Given the description of an element on the screen output the (x, y) to click on. 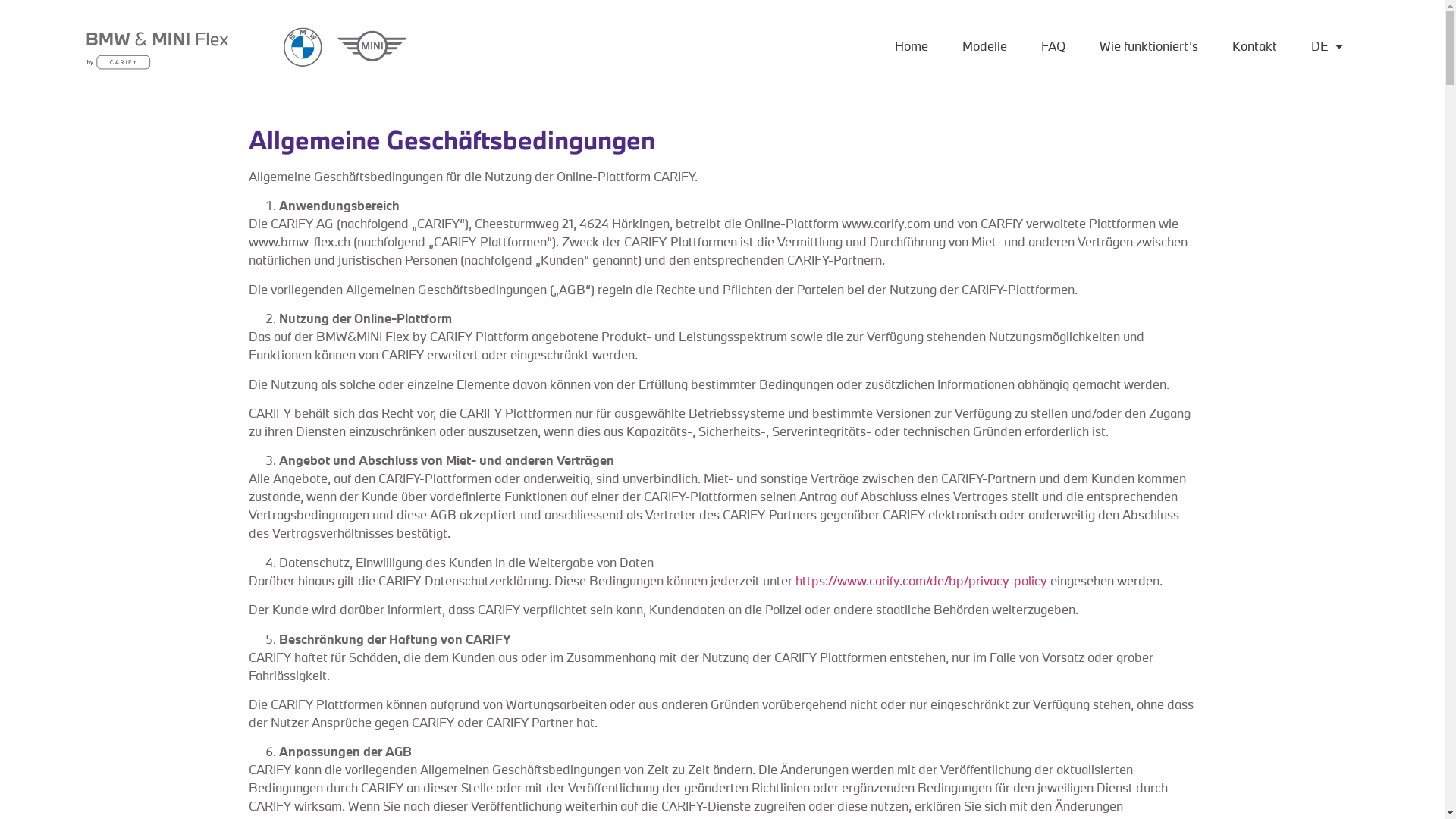
BMW-Logo Element type: hover (302, 46)
Home Element type: text (911, 45)
https://www.carify.com/de/bp/privacy-policy Element type: text (920, 580)
FAQ Element type: text (1053, 45)
Mini-logo Element type: hover (371, 45)
Modelle Element type: text (984, 45)
Kontakt Element type: text (1254, 45)
DE Element type: text (1326, 45)
